Given the description of an element on the screen output the (x, y) to click on. 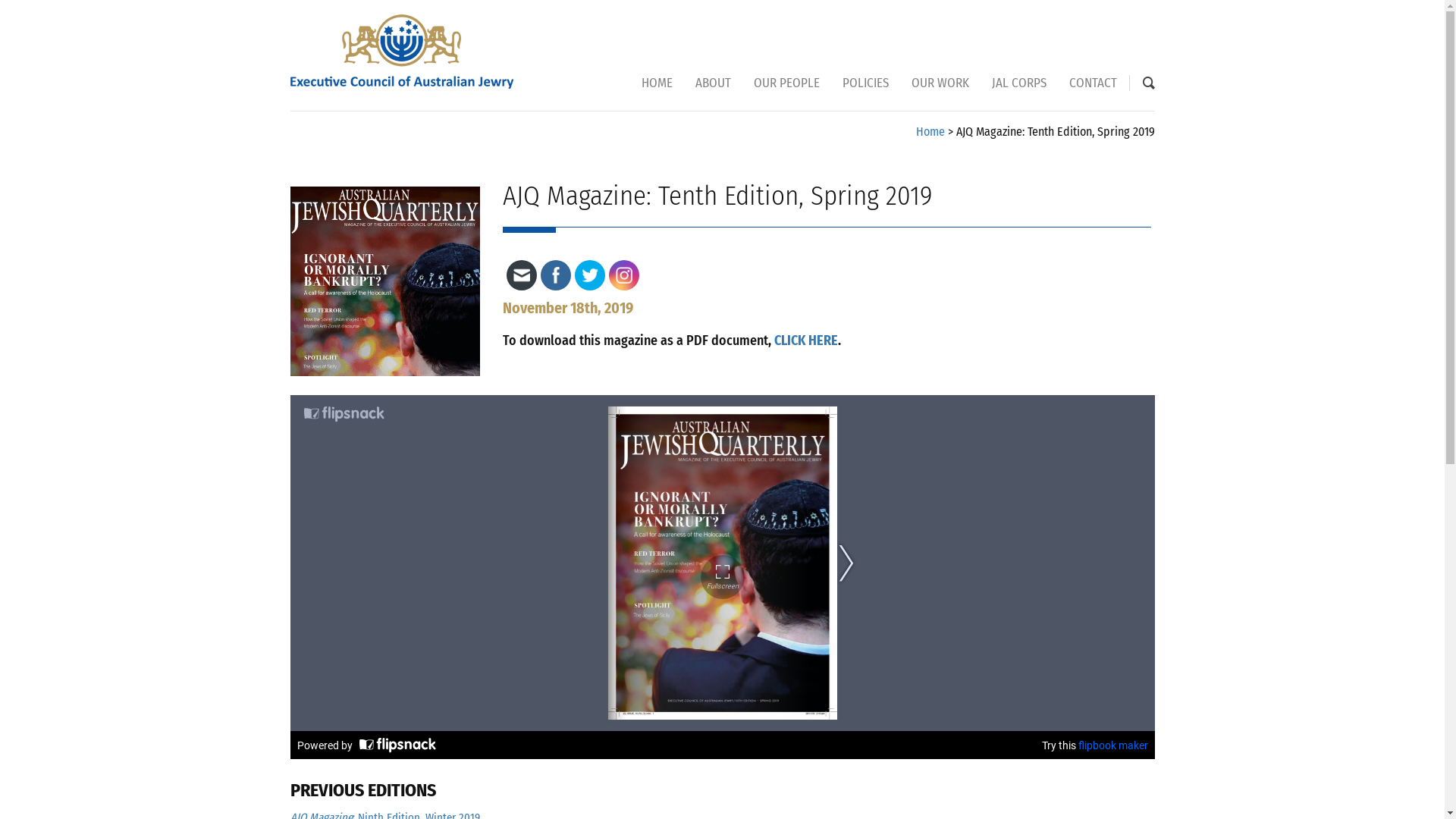
POLICIES Element type: text (865, 83)
Instagram Element type: hover (623, 274)
CONTACT Element type: text (1086, 83)
Facebook Element type: hover (555, 274)
ABOUT Element type: text (713, 83)
OUR WORK Element type: text (939, 83)
Twitter Element type: hover (588, 274)
CLICK HERE Element type: text (805, 340)
JAL CORPS Element type: text (1018, 83)
Follow by Email Element type: hover (520, 274)
Home Element type: text (930, 131)
OUR PEOPLE Element type: text (785, 83)
HOME Element type: text (662, 83)
